Given the description of an element on the screen output the (x, y) to click on. 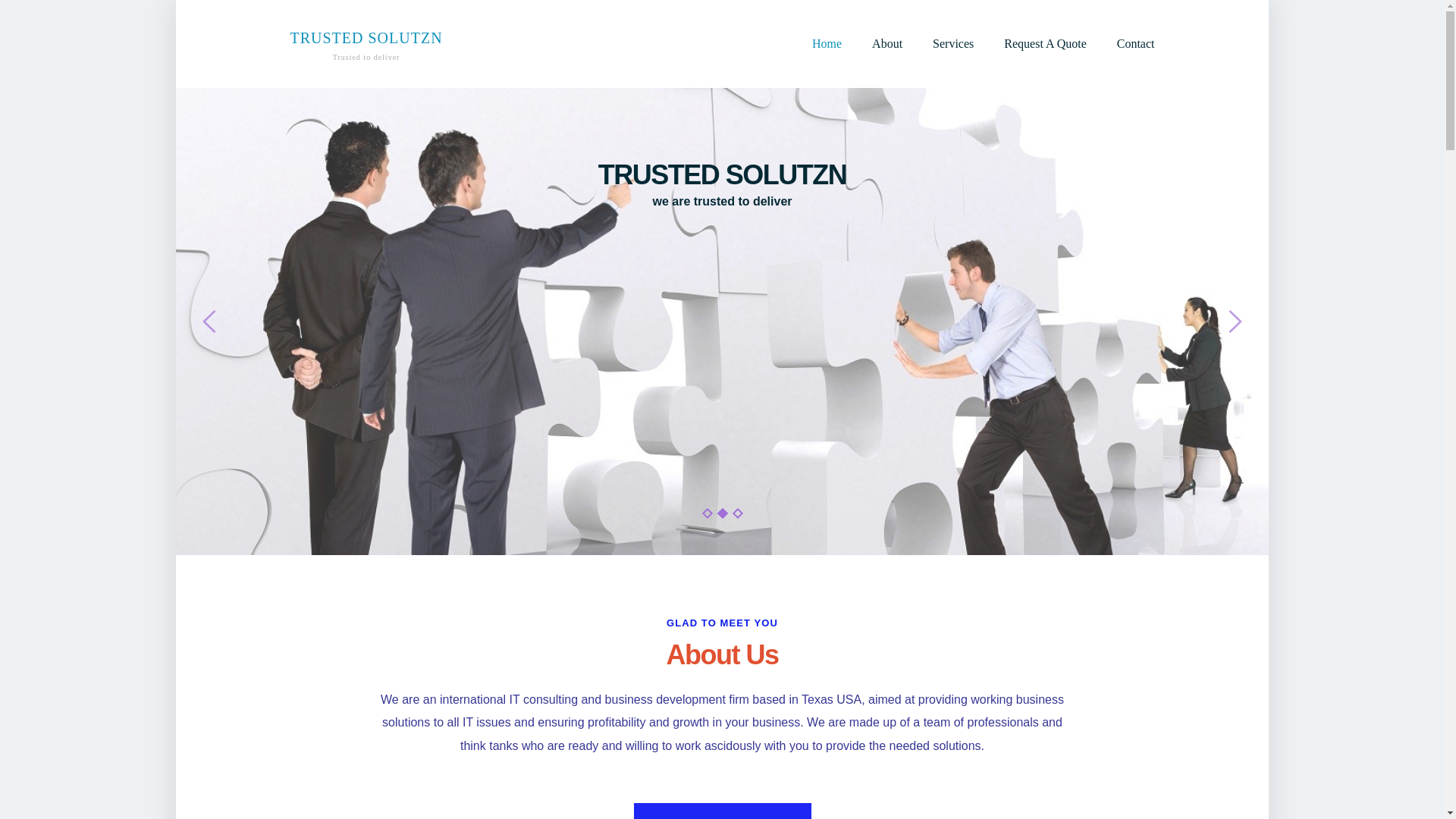
Home (826, 43)
2 (719, 511)
About (887, 43)
Request A Quote (1045, 43)
1 (705, 511)
FIND OUT MORE (721, 811)
Contact (1135, 43)
Services (953, 43)
3 (365, 43)
